Given the description of an element on the screen output the (x, y) to click on. 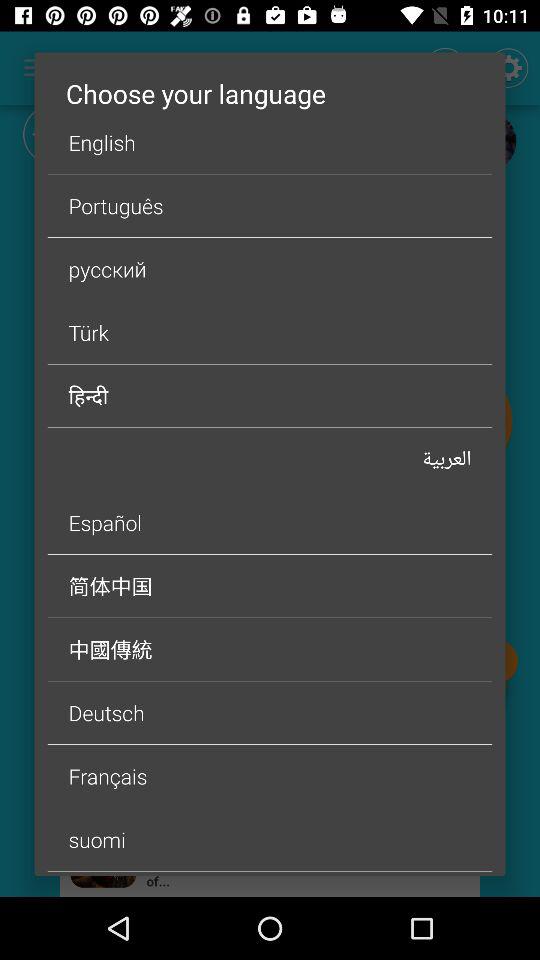
choose the item above dutch icon (269, 839)
